Given the description of an element on the screen output the (x, y) to click on. 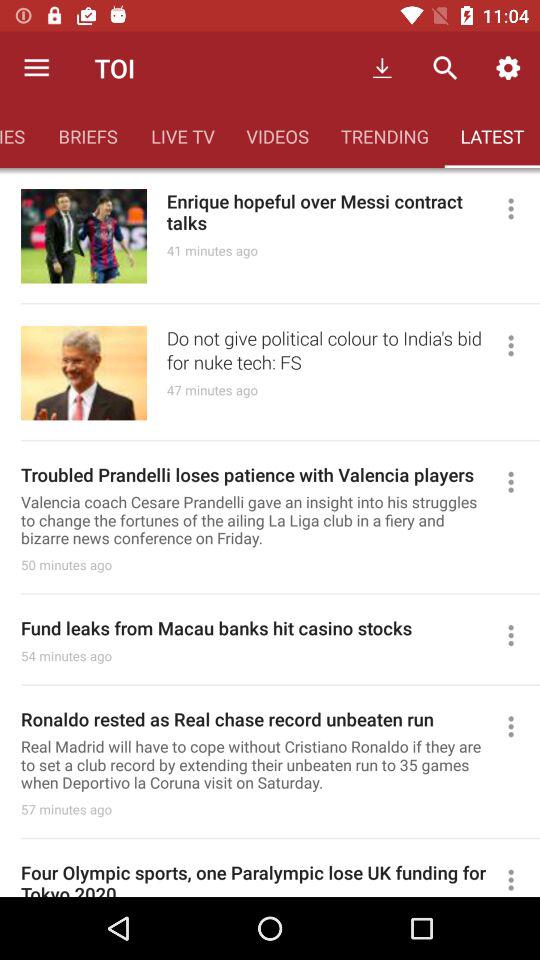
open article (519, 208)
